Given the description of an element on the screen output the (x, y) to click on. 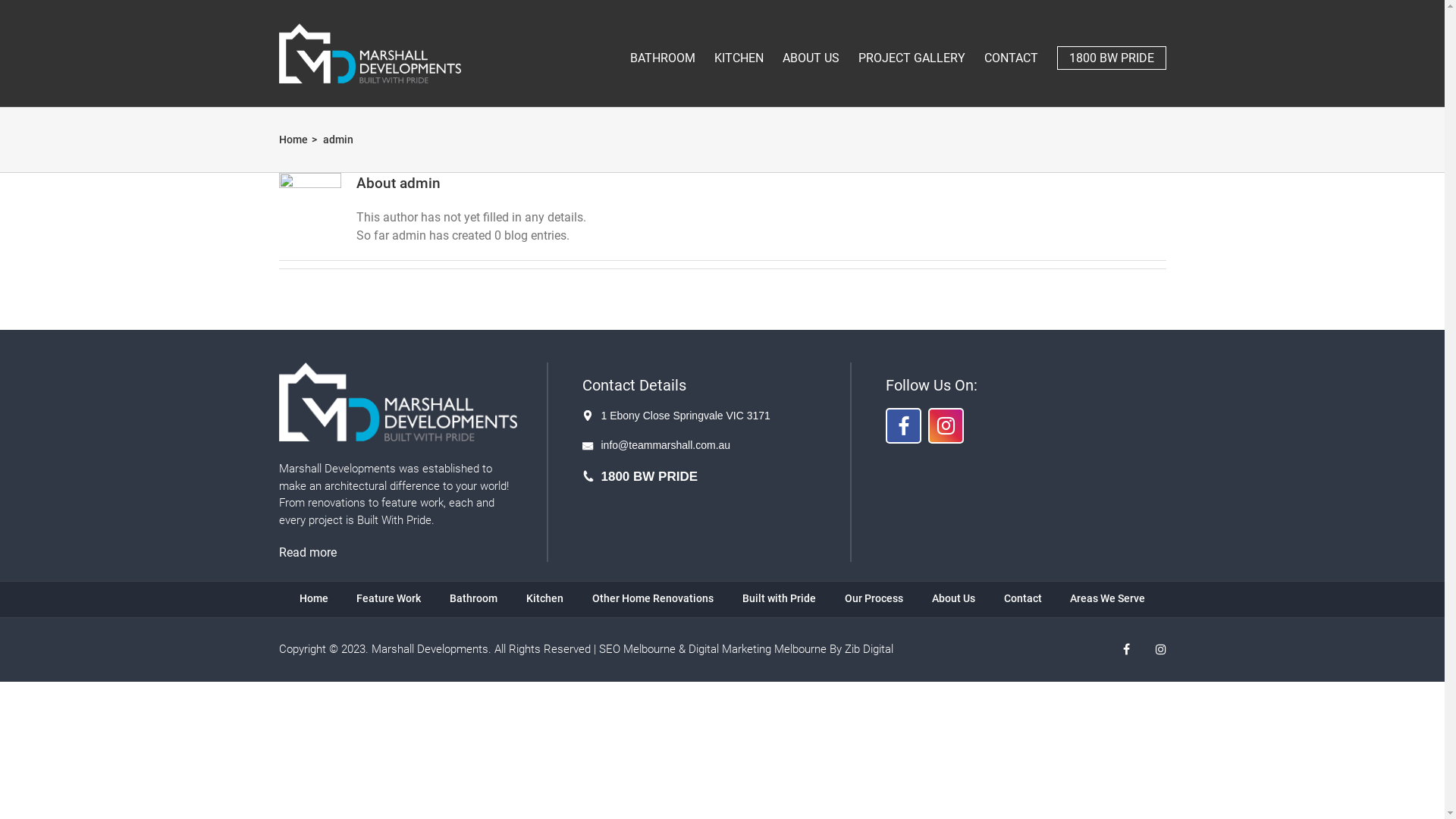
Bathroom Element type: text (473, 598)
CONTACT Element type: text (1011, 49)
Built with Pride Element type: text (778, 598)
Zib Digital Element type: text (868, 648)
Other Home Renovations Element type: text (652, 598)
ABOUT US Element type: text (810, 49)
Contact Element type: text (1022, 598)
PROJECT GALLERY Element type: text (911, 49)
1800 BW PRIDE Element type: text (1111, 49)
SEO Melbourne Element type: text (637, 648)
About Us Element type: text (953, 598)
1800 BW PRIDE Element type: text (724, 476)
info@teammarshall.com.au Element type: text (724, 445)
KITCHEN Element type: text (738, 49)
Home Element type: text (313, 598)
Home Element type: text (293, 139)
Areas We Serve Element type: text (1107, 598)
Feature Work Element type: text (388, 598)
Digital Marketing Melbourne Element type: text (757, 648)
BATHROOM Element type: text (661, 49)
Our Process Element type: text (873, 598)
Kitchen Element type: text (544, 598)
admin Element type: text (338, 139)
Read more Element type: text (307, 552)
